Given the description of an element on the screen output the (x, y) to click on. 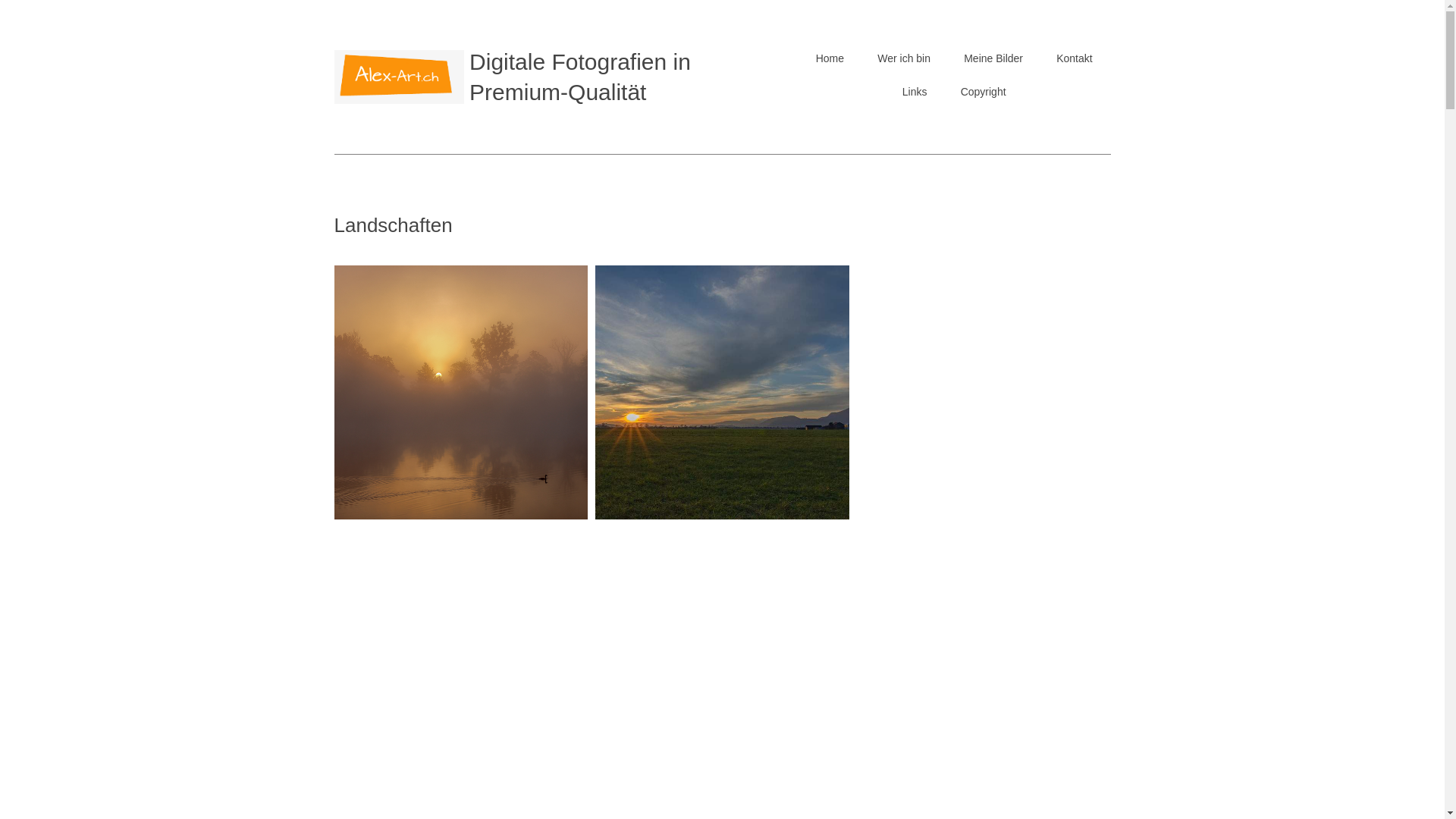
Copyright Element type: text (983, 91)
Home Element type: text (829, 58)
Wer ich bin Element type: text (903, 58)
Meine Bilder Element type: text (992, 58)
Kontakt Element type: text (1074, 58)
Links Element type: text (914, 91)
